Given the description of an element on the screen output the (x, y) to click on. 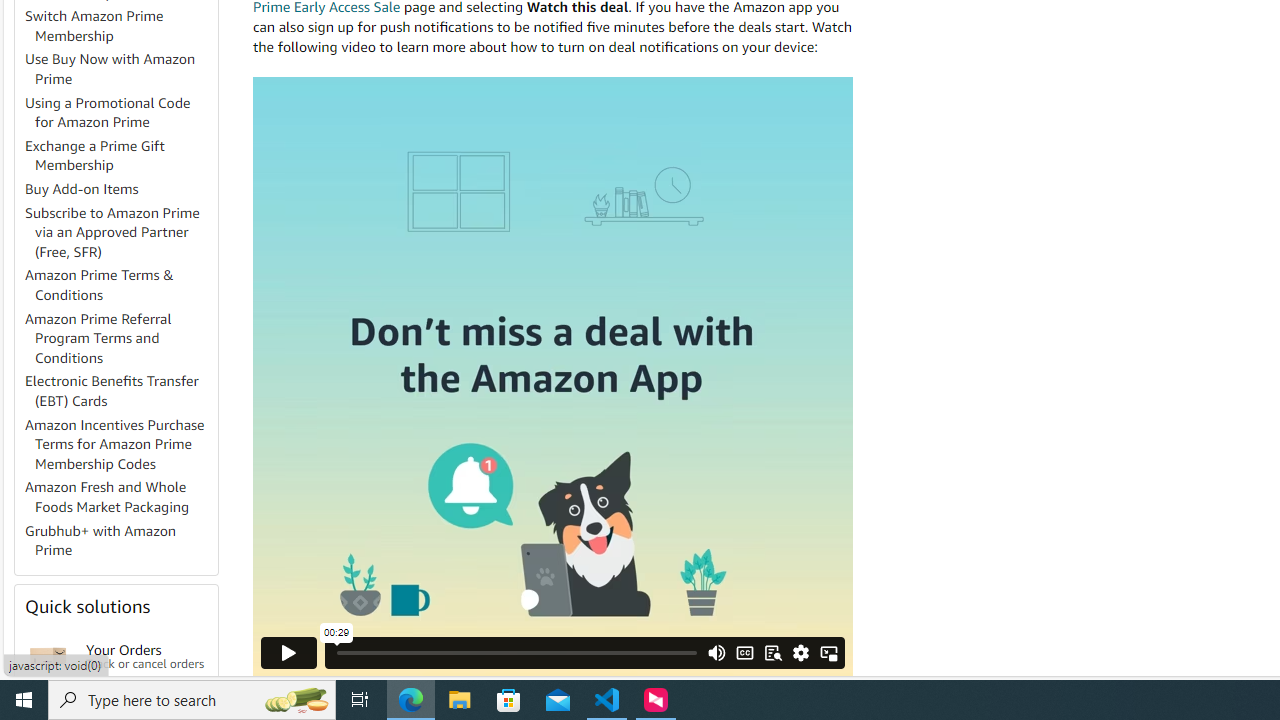
Using a Promotional Code for Amazon Prime (107, 111)
Exchange a Prime Gift Membership (120, 156)
Using a Promotional Code for Amazon Prime (120, 112)
Transcript (772, 652)
Class: PrefsButton_module_gearIcon__39297261 (801, 652)
Switch Amazon Prime Membership (120, 26)
Buy Add-on Items (120, 190)
